Given the description of an element on the screen output the (x, y) to click on. 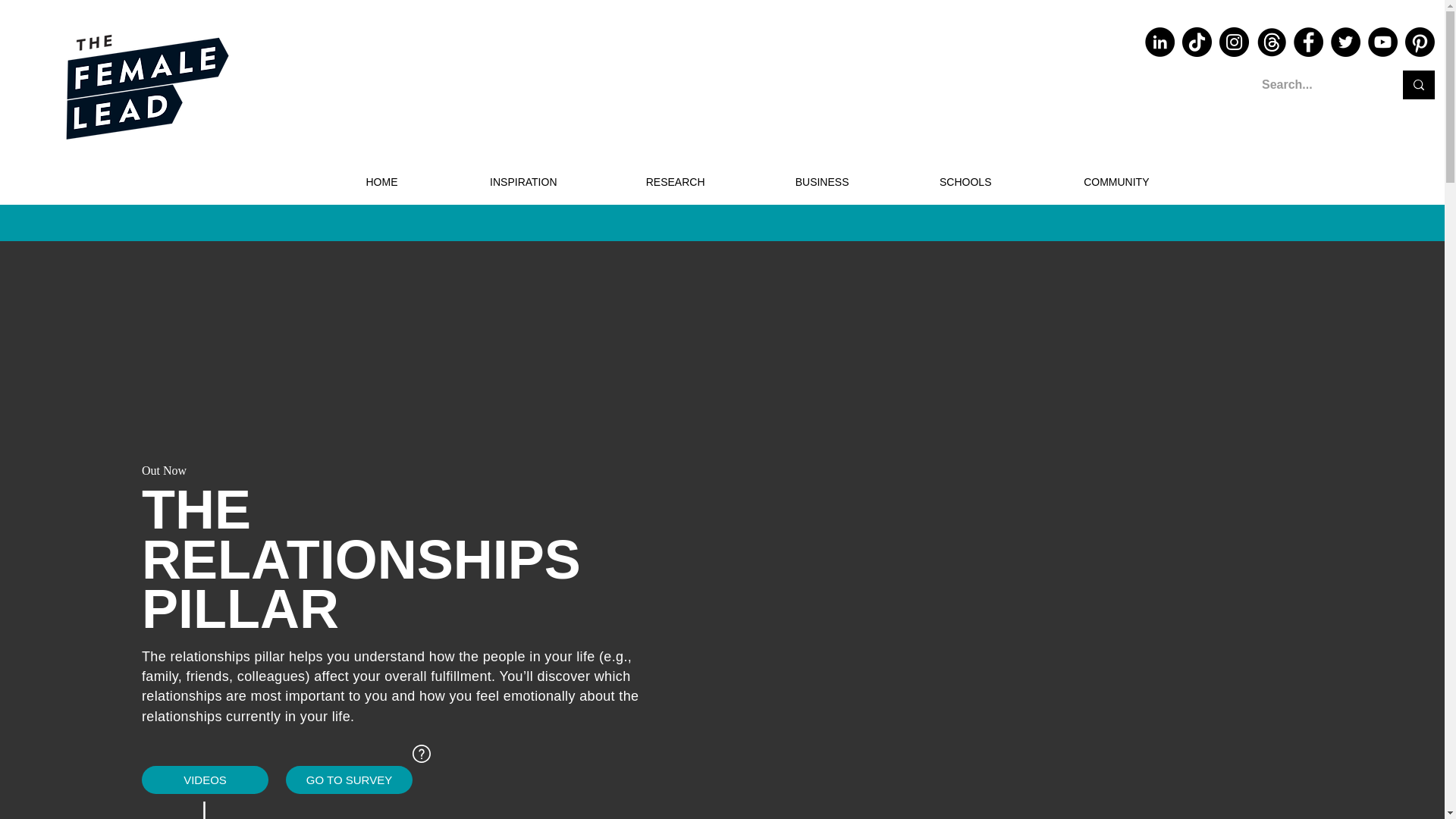
RESEARCH (642, 181)
VIDEOS (204, 779)
GO TO SURVEY (348, 779)
BUSINESS (788, 181)
INSPIRATION (489, 181)
COMMUNITY (1081, 181)
HOME (347, 181)
SCHOOLS (931, 181)
